Given the description of an element on the screen output the (x, y) to click on. 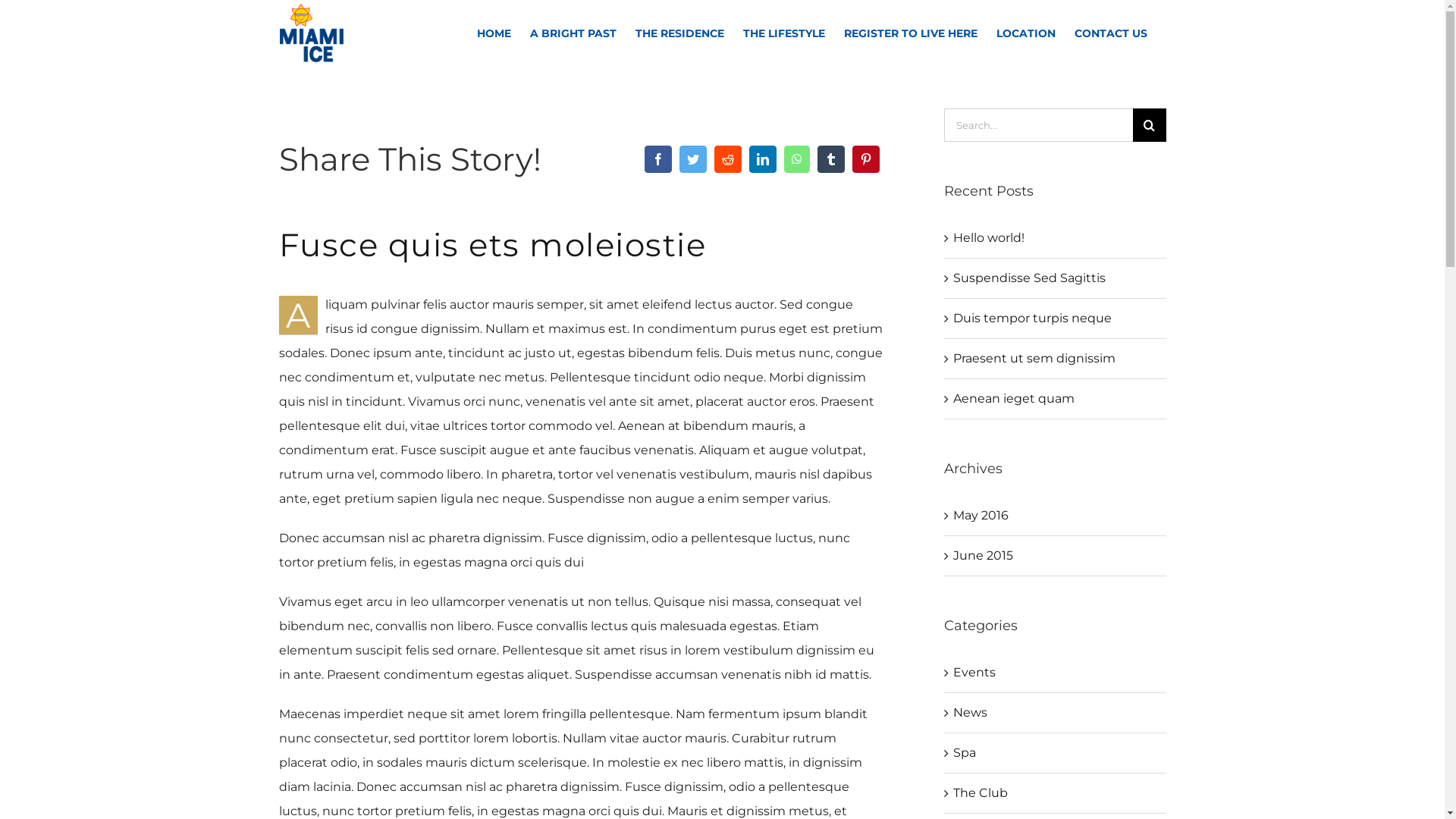
HOME Element type: text (493, 33)
Events Element type: text (1055, 672)
The Club Element type: text (1055, 793)
May 2016 Element type: text (980, 515)
Praesent ut sem dignissim Element type: text (1034, 358)
A BRIGHT PAST Element type: text (572, 33)
June 2015 Element type: text (983, 555)
Hello world! Element type: text (988, 237)
THE RESIDENCE Element type: text (679, 33)
LOCATION Element type: text (1025, 33)
CONTACT US Element type: text (1109, 33)
Duis tempor turpis neque Element type: text (1032, 317)
Spa Element type: text (1055, 752)
REGISTER TO LIVE HERE Element type: text (909, 33)
THE LIFESTYLE Element type: text (784, 33)
Aenean ieget quam Element type: text (1013, 398)
News Element type: text (1055, 712)
Suspendisse Sed Sagittis Element type: text (1029, 277)
